Given the description of an element on the screen output the (x, y) to click on. 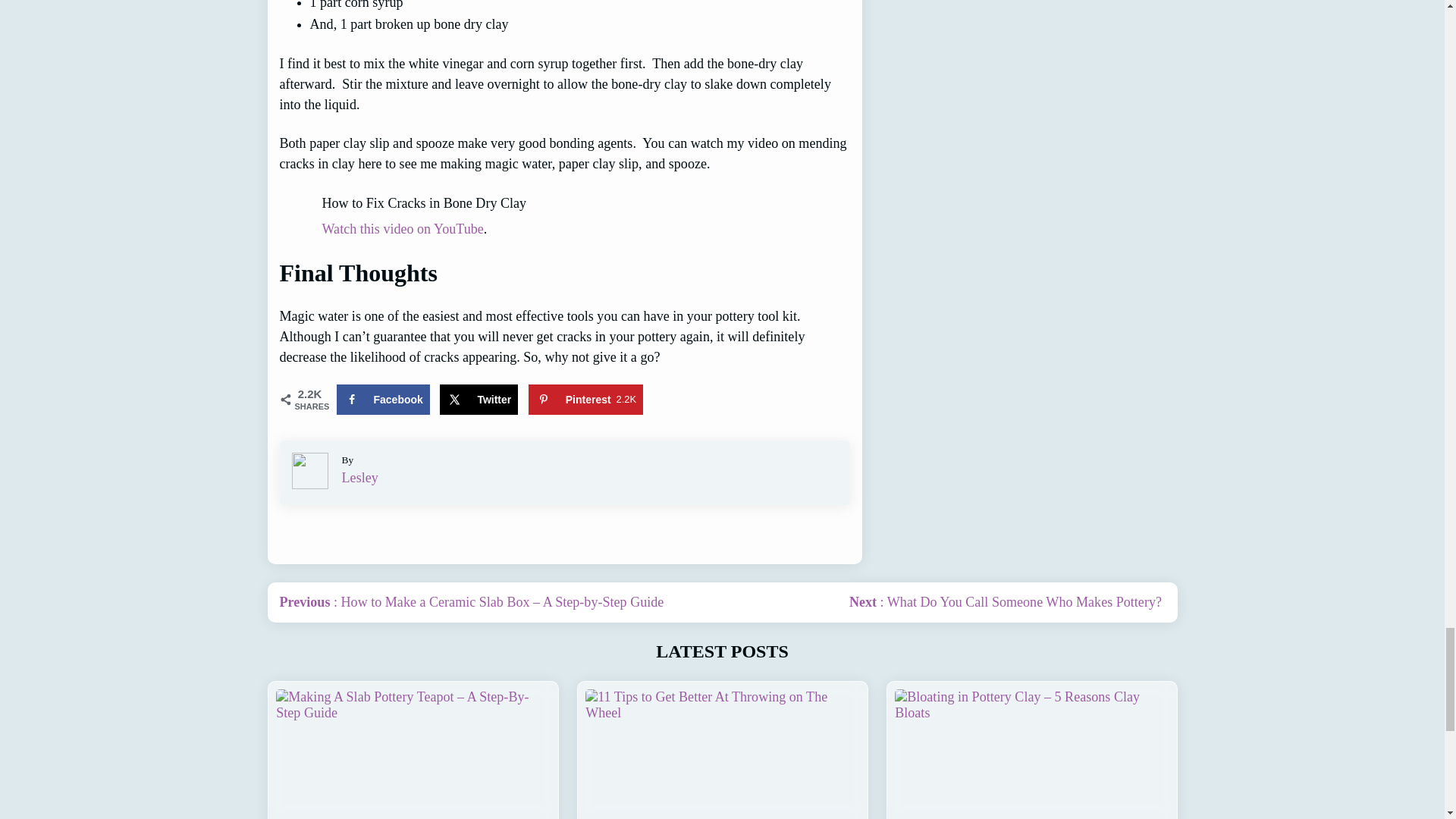
How to Fix Cracks in Bone Dry Clay (563, 203)
Share on X (478, 399)
Share on Facebook (382, 399)
Save to Pinterest (585, 399)
